Given the description of an element on the screen output the (x, y) to click on. 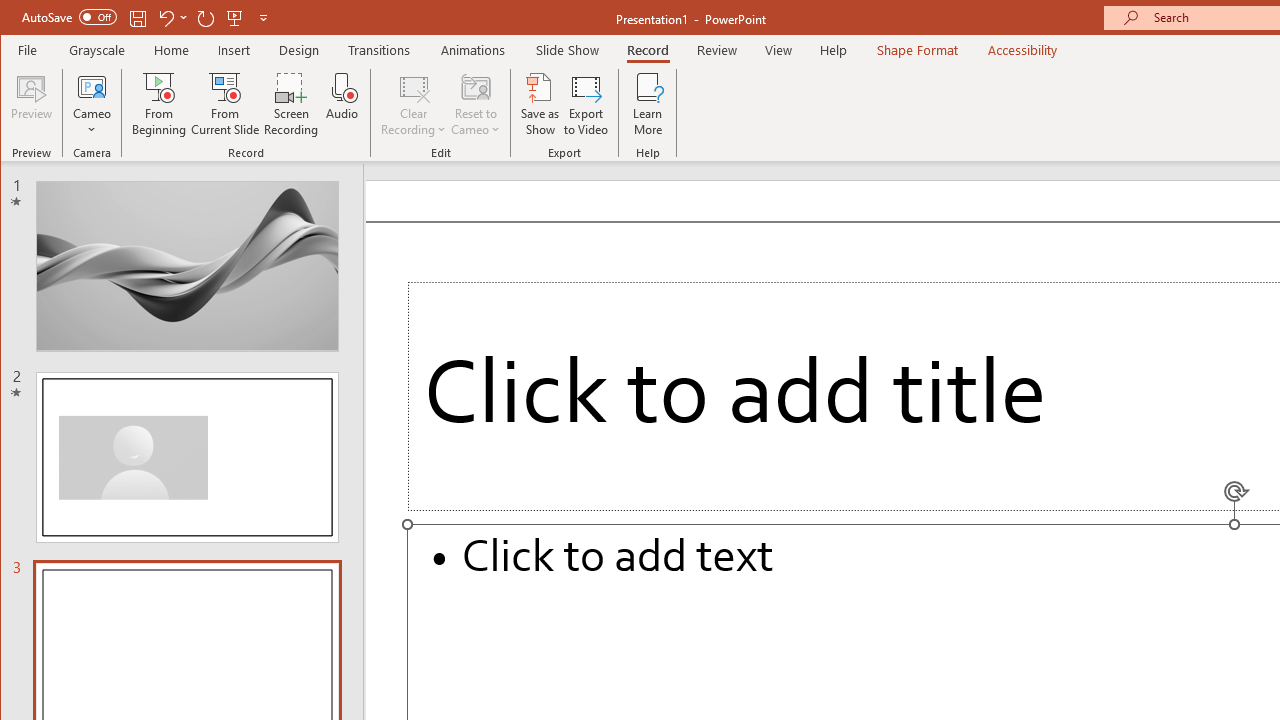
Slide (187, 457)
Preview (31, 104)
From Current Slide... (225, 104)
Clear Recording (413, 104)
Reset to Cameo (476, 104)
Shape Format (916, 50)
Save as Show (539, 104)
Cameo (91, 86)
From Beginning... (159, 104)
